Given the description of an element on the screen output the (x, y) to click on. 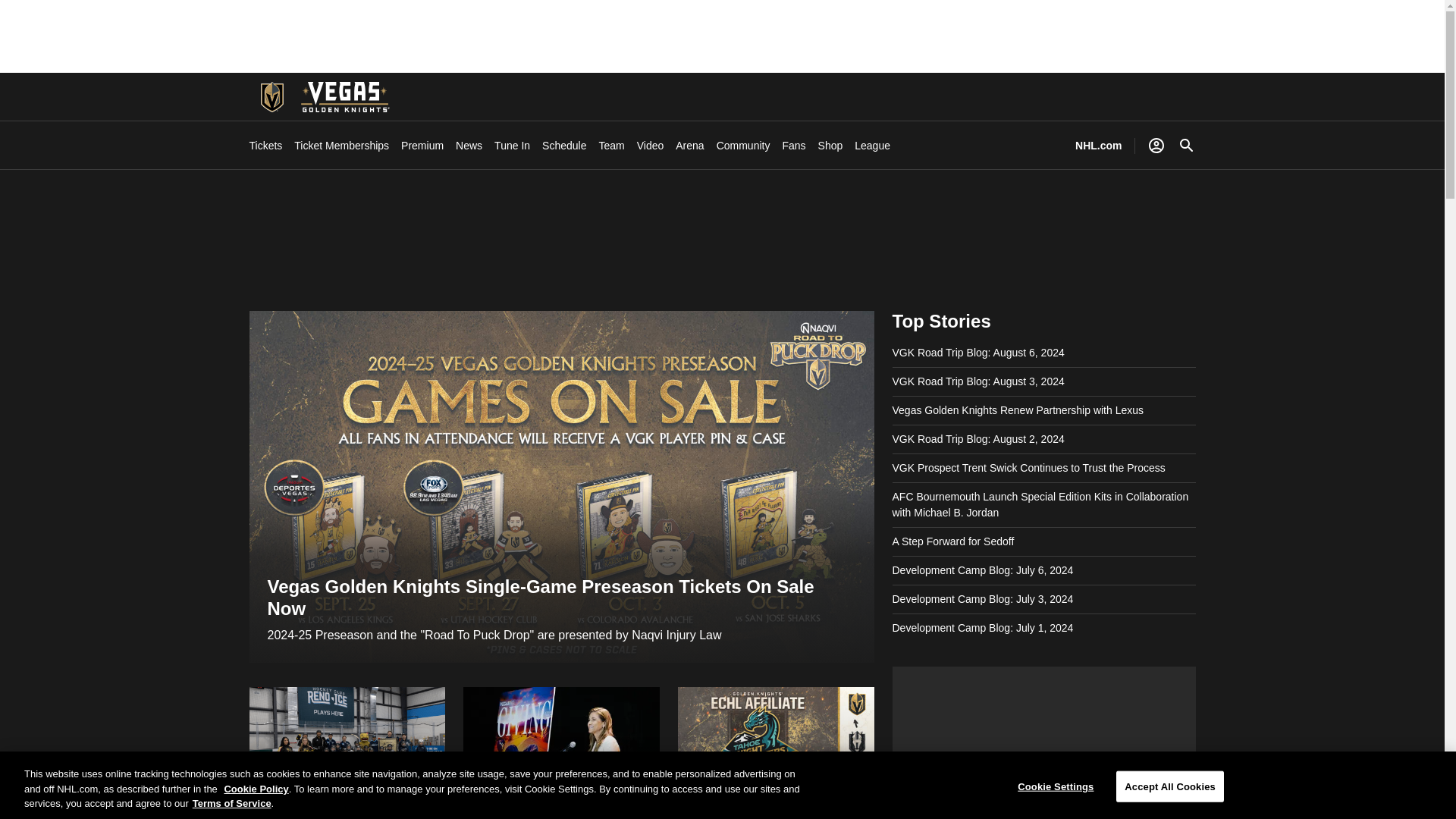
Shop (830, 145)
Community (743, 145)
Arena (689, 145)
Ticket Memberships (341, 145)
VGK Road Trip Blog: August 6, 2024 (977, 352)
Team (611, 145)
VGK Road Trip Blog: August 8, 2024 (346, 753)
Premium (422, 145)
NHL.com (1098, 145)
